Given the description of an element on the screen output the (x, y) to click on. 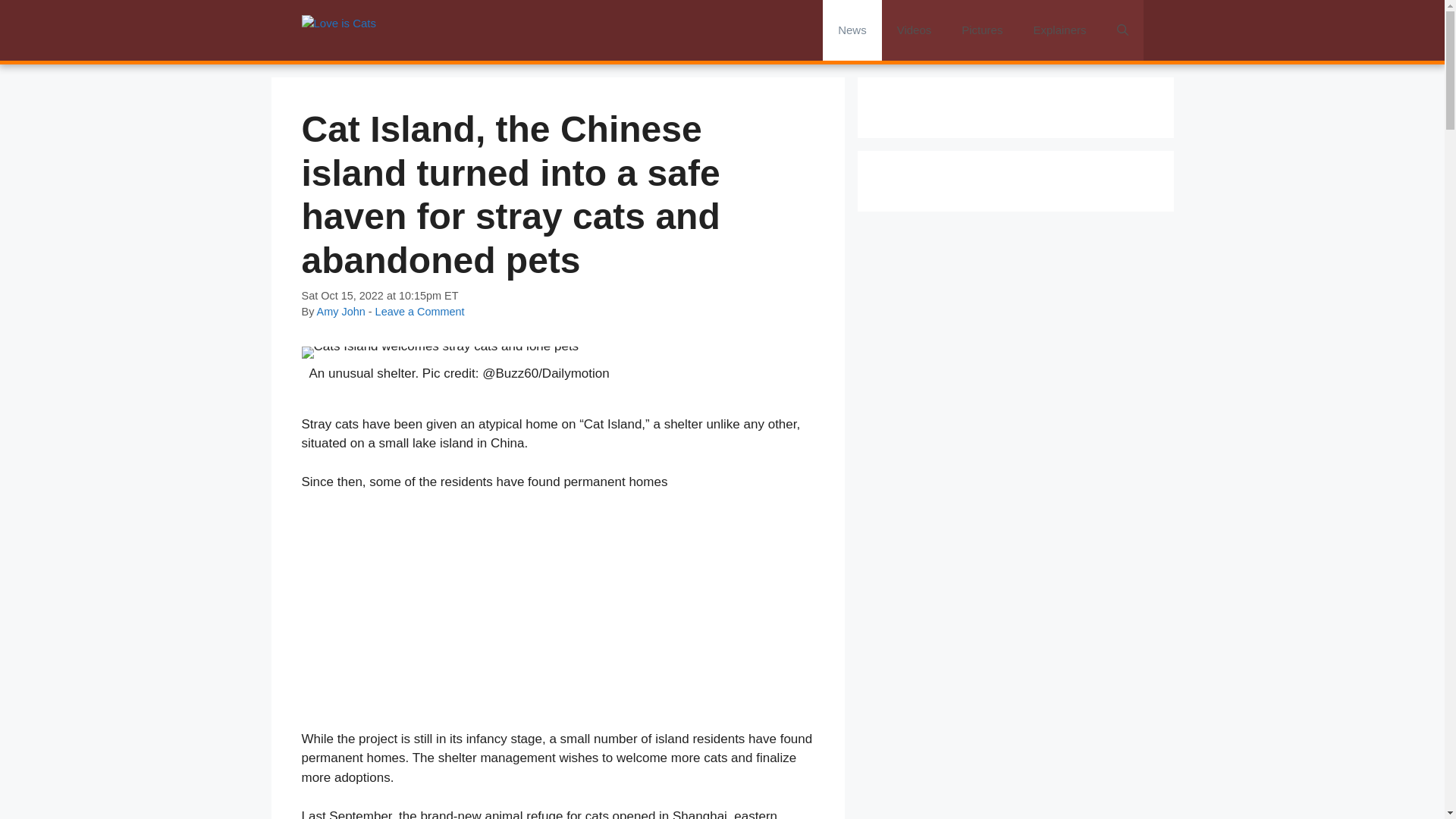
Leave a Comment (419, 311)
Pictures (981, 30)
Explainers (1058, 30)
Love is Cats (339, 30)
Amy John (341, 311)
View all posts by Amy John (341, 311)
Videos (914, 30)
News (852, 30)
